Given the description of an element on the screen output the (x, y) to click on. 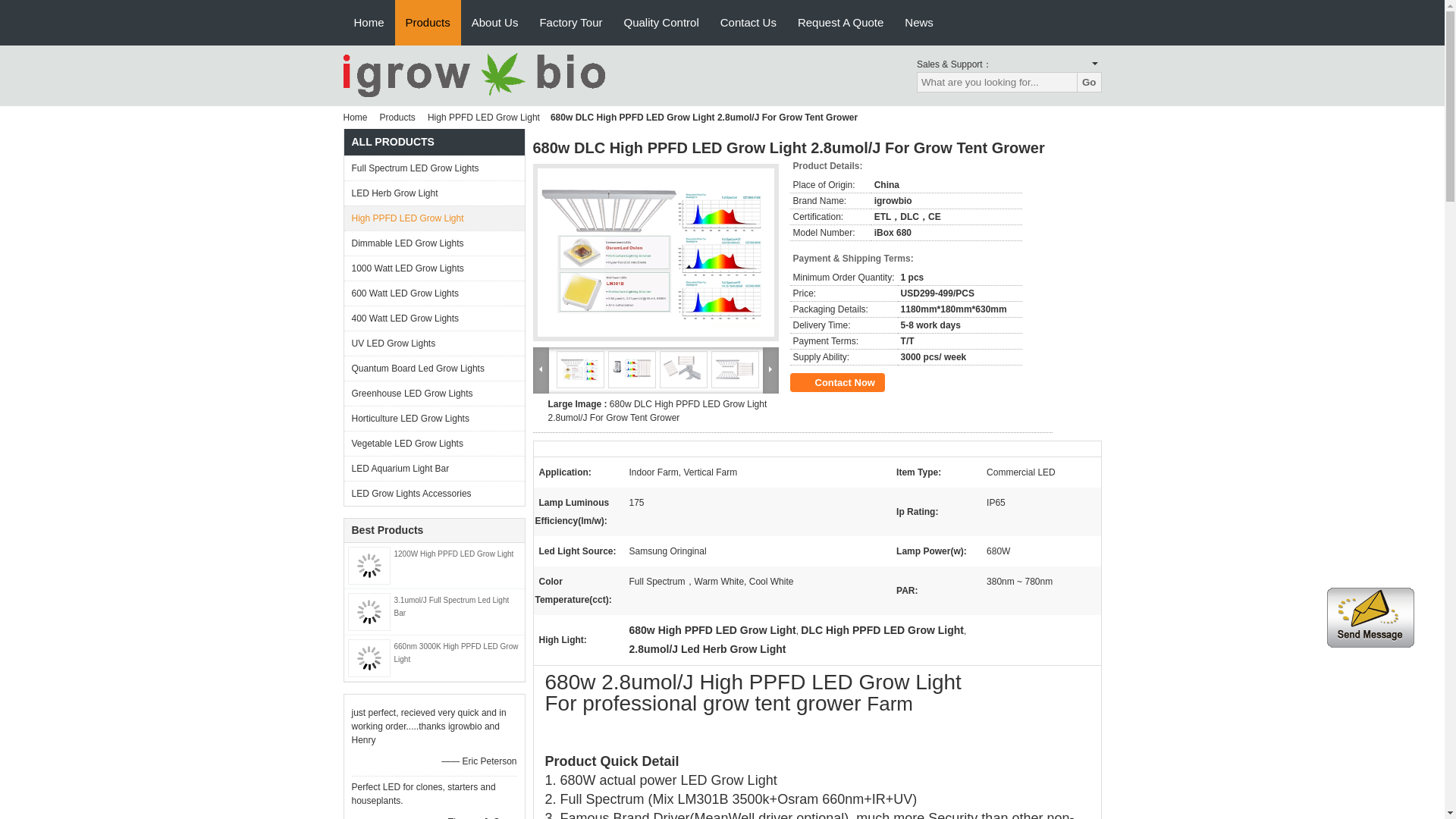
Vegetable LED Grow Lights (433, 442)
Factory Tour (570, 22)
High PPFD LED Grow Light (484, 117)
LED Aquarium Light Bar (433, 467)
400 Watt LED Grow Lights (433, 317)
Quality Control (661, 22)
News (918, 22)
LED Grow Lights Accessories (433, 493)
Greenhouse LED Grow Lights (433, 392)
1000 Watt LED Grow Lights (433, 267)
Shenzhen Igrow Bio-Tech Co., Ltd. (473, 73)
LED Herb Grow Light (433, 192)
Full Spectrum LED Grow Lights (433, 167)
Products (427, 22)
Request A Quote (840, 22)
